Given the description of an element on the screen output the (x, y) to click on. 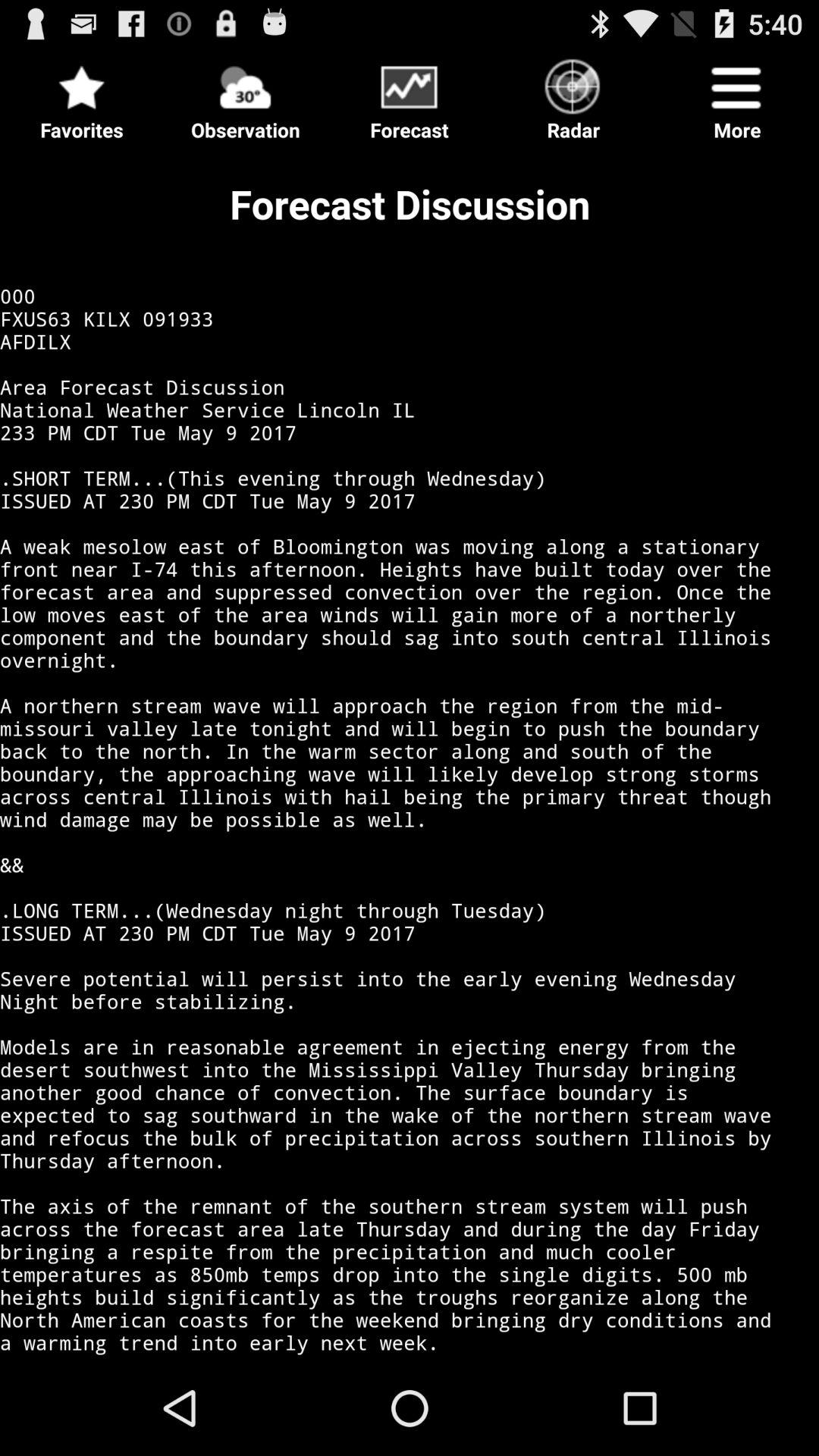
turn on the icon to the right of favorites (245, 95)
